Given the description of an element on the screen output the (x, y) to click on. 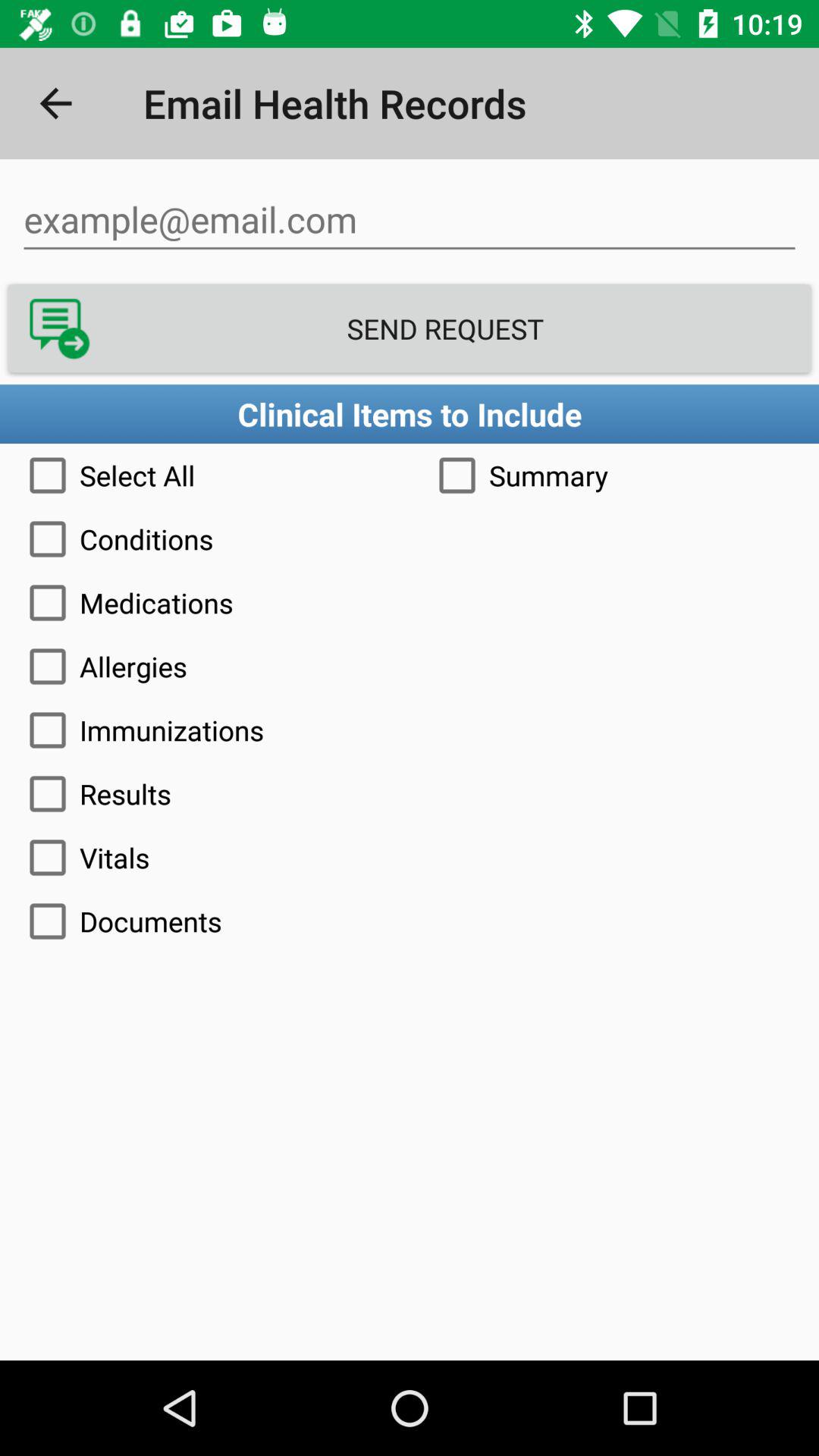
launch icon above the documents (409, 857)
